Given the description of an element on the screen output the (x, y) to click on. 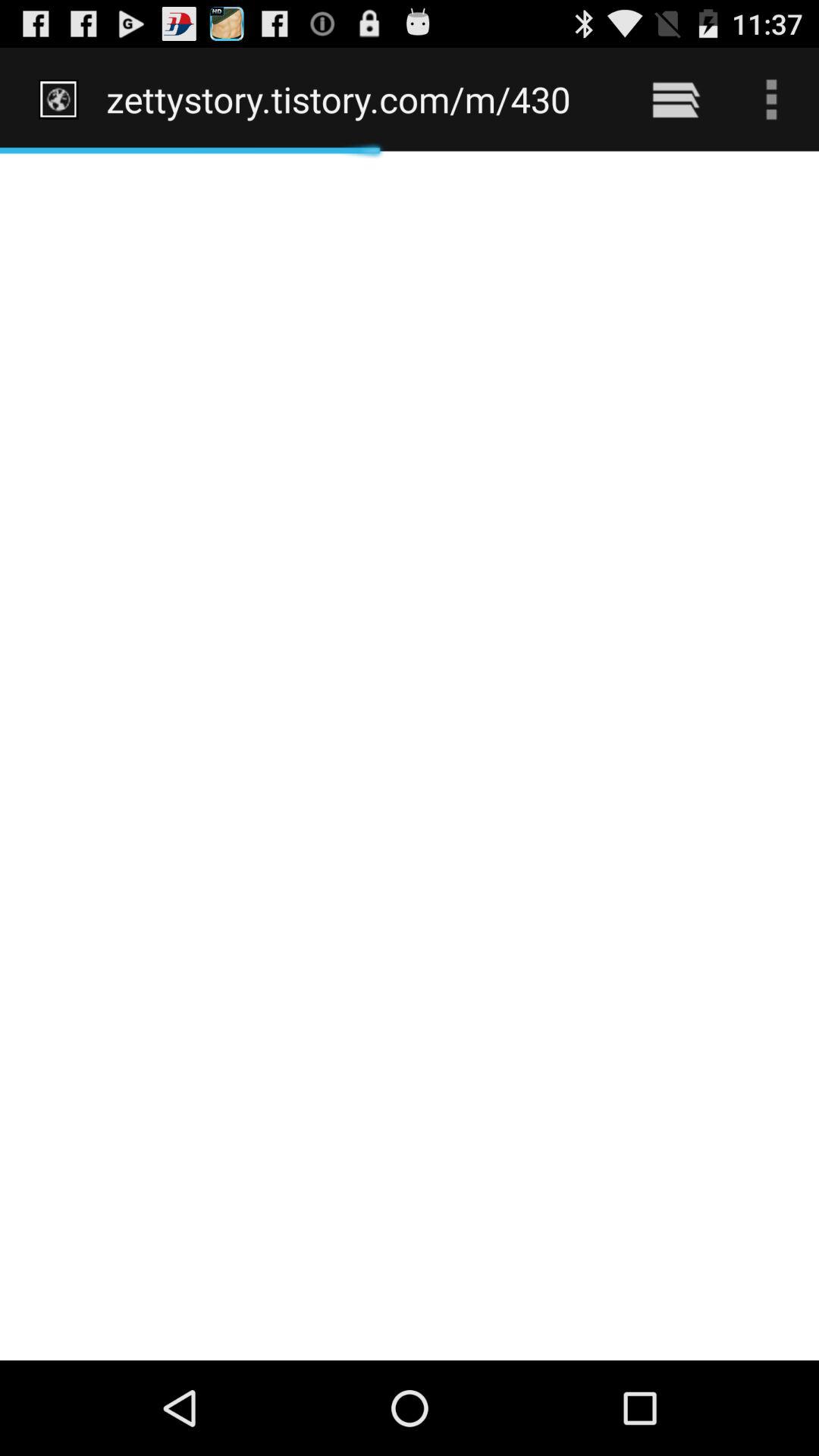
turn on the item next to the zettystory tistory com icon (675, 99)
